Given the description of an element on the screen output the (x, y) to click on. 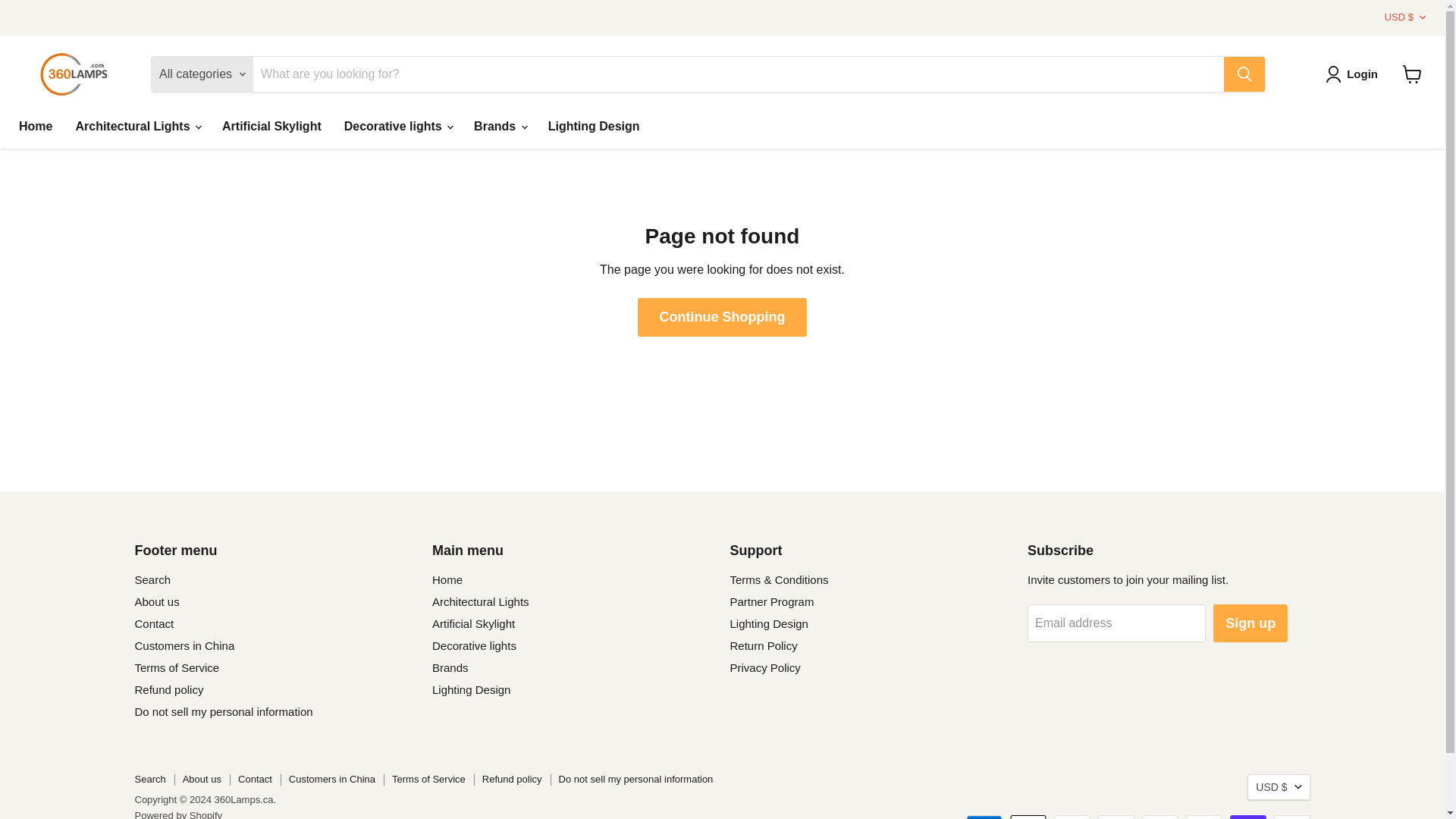
Discover (1115, 816)
Google Pay (1159, 816)
Mastercard (1204, 816)
Diners Club (1072, 816)
Visa (1292, 816)
American Express (984, 816)
Apple Pay (1028, 816)
Shop Pay (1248, 816)
